Given the description of an element on the screen output the (x, y) to click on. 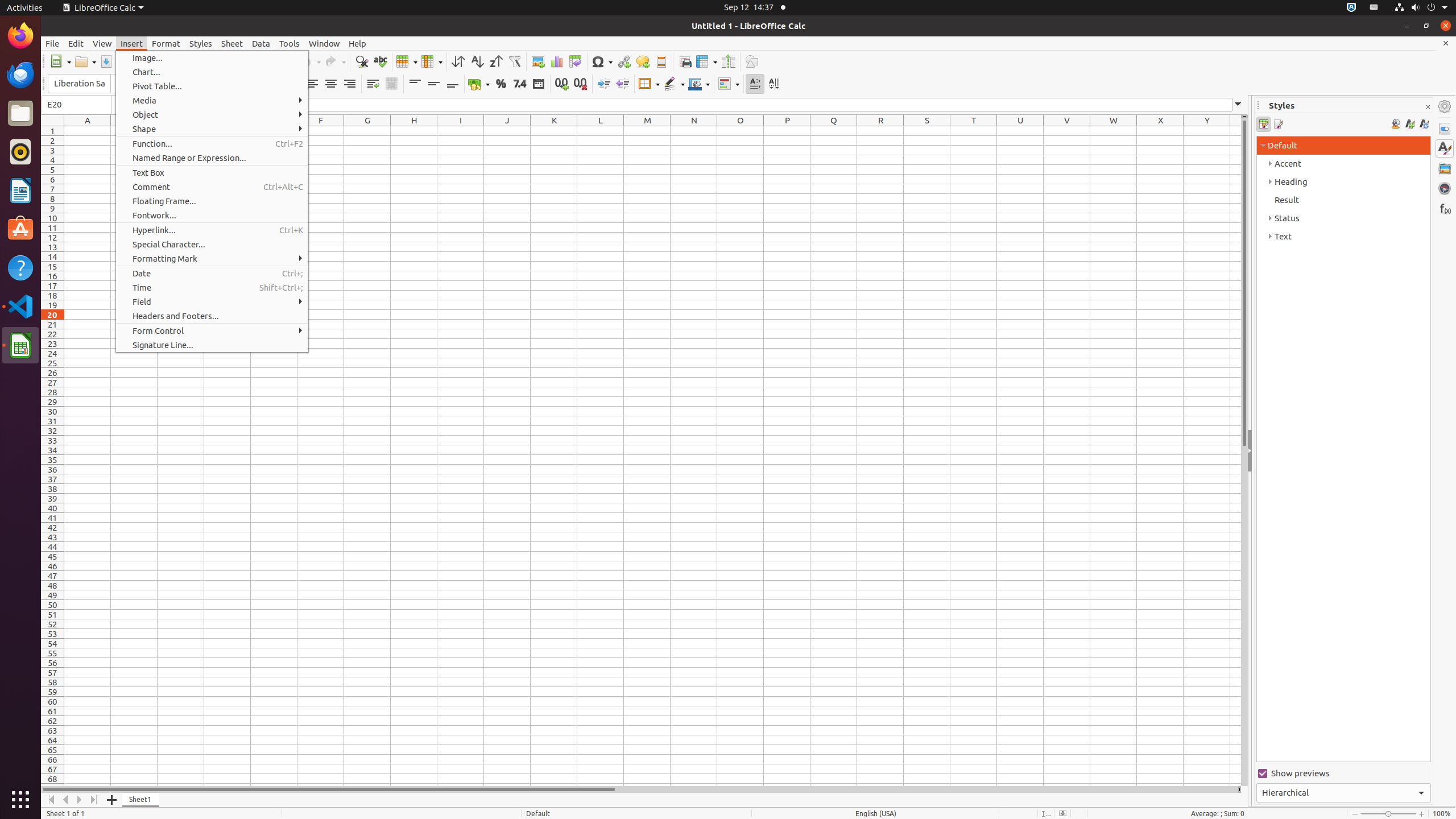
Find & Replace Element type: toggle-button (361, 61)
System Element type: menu (1420, 7)
Percent Element type: push-button (500, 83)
:1.21/StatusNotifierItem Element type: menu (1373, 7)
Text direction from top to bottom Element type: toggle-button (773, 83)
